Given the description of an element on the screen output the (x, y) to click on. 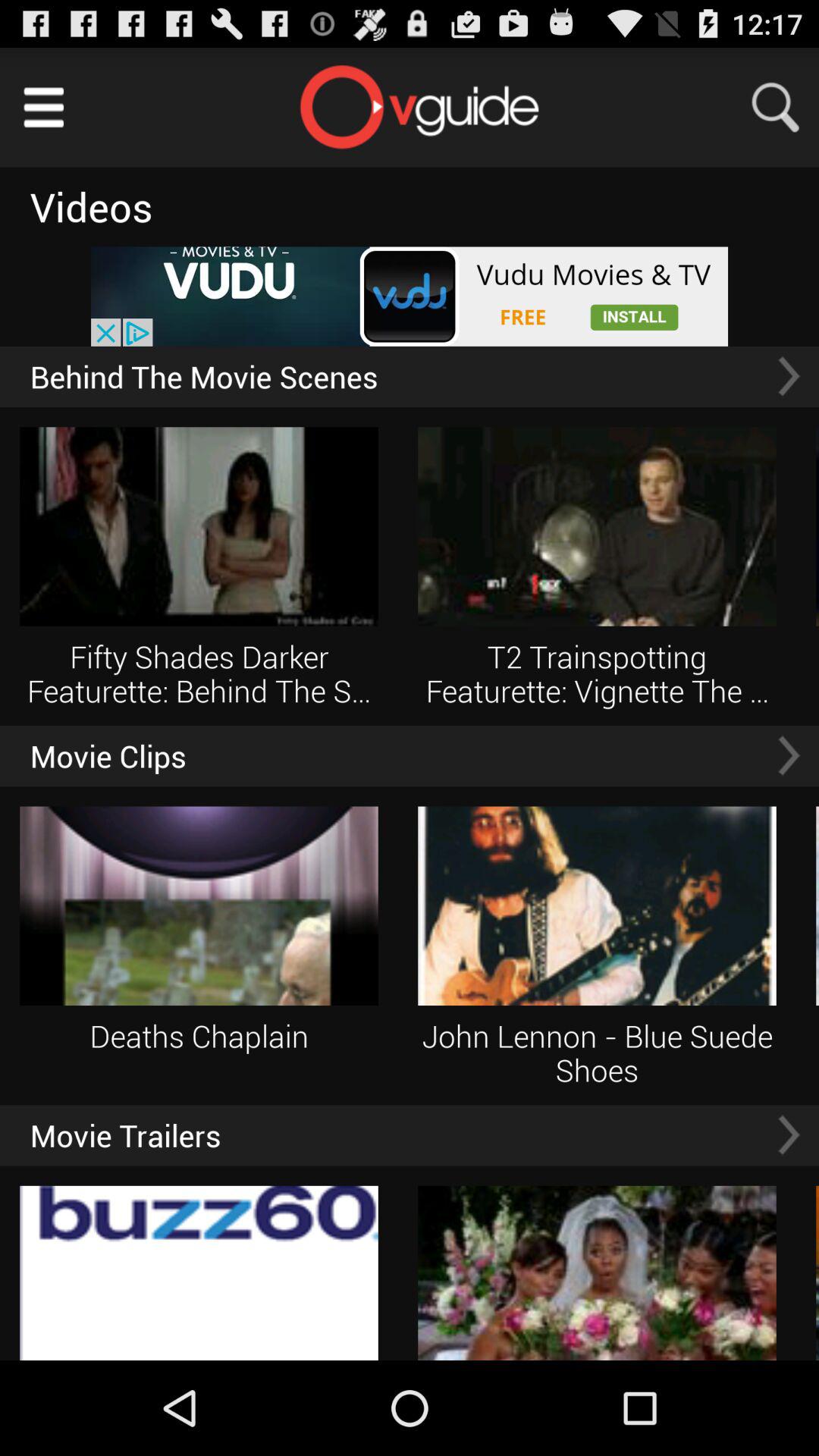
view more movie trailers (789, 1134)
